Given the description of an element on the screen output the (x, y) to click on. 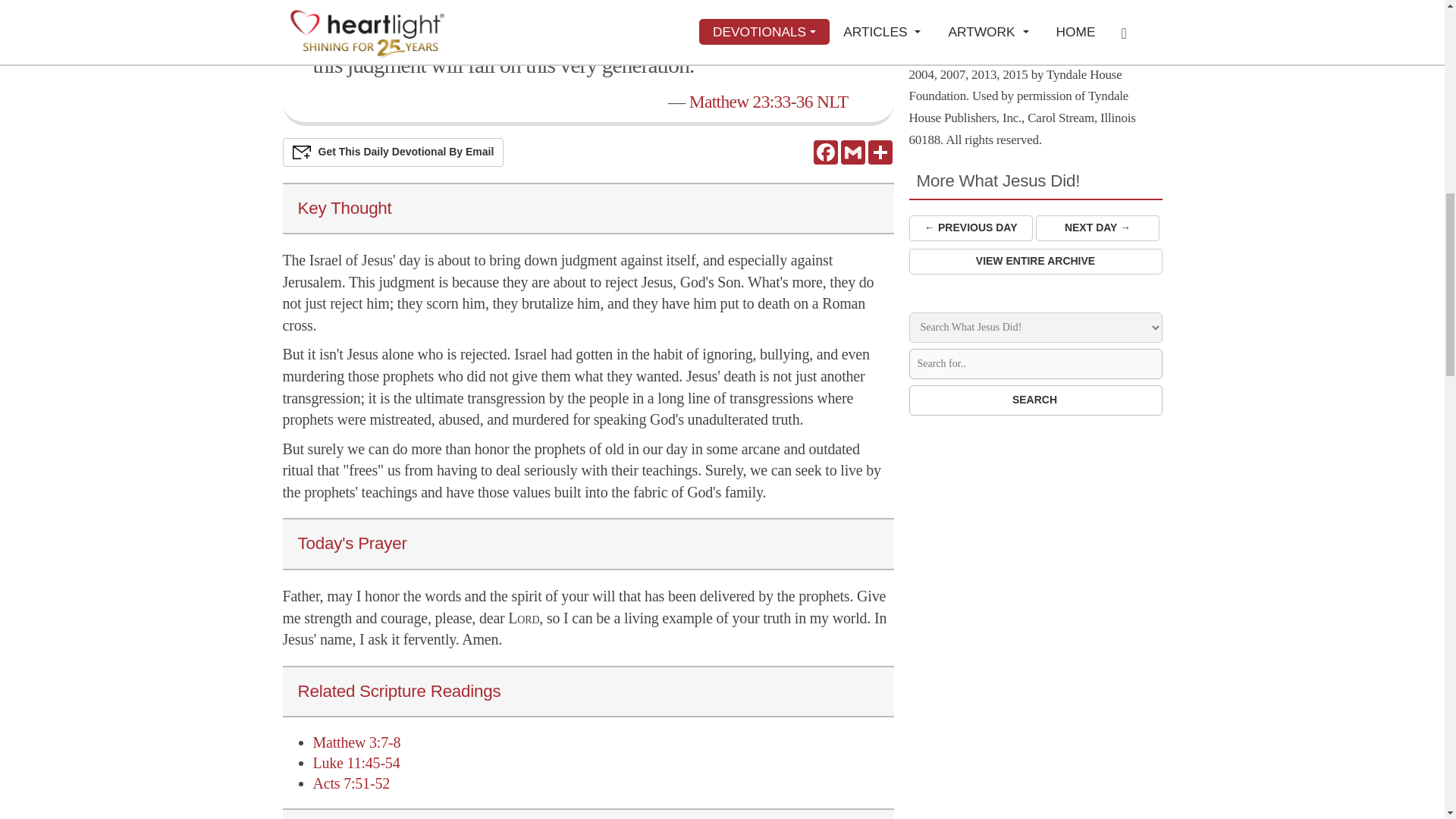
Matthew 23:33-36 NLT (768, 101)
Search (1034, 399)
Search (1034, 399)
